Given the description of an element on the screen output the (x, y) to click on. 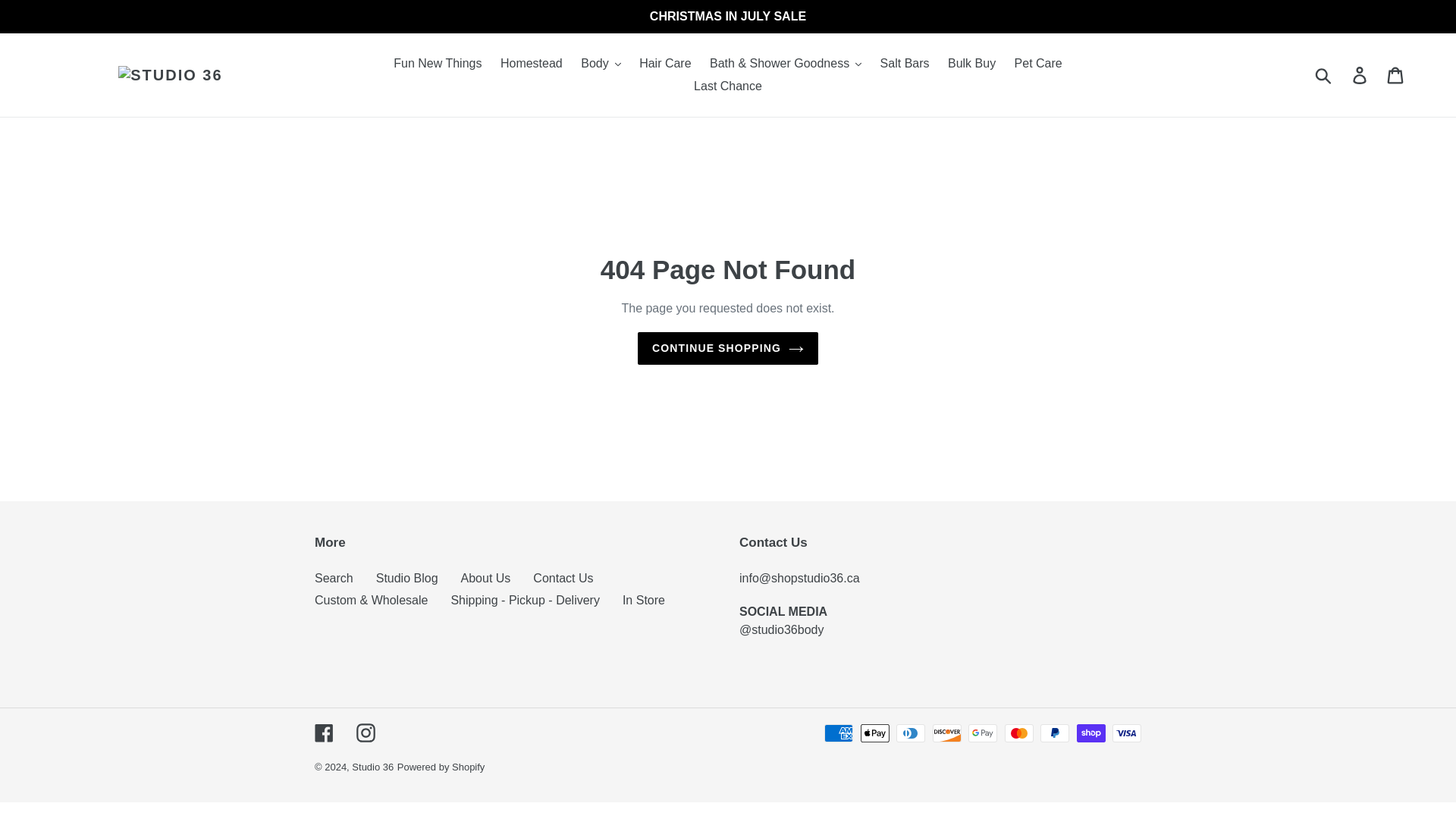
Fun New Things (437, 63)
Hair Care (664, 63)
Log in (1360, 74)
Salt Bars (904, 63)
Cart (1395, 74)
Bulk Buy (971, 63)
Submit (1324, 74)
Homestead (531, 63)
Last Chance (727, 86)
Pet Care (1038, 63)
